Given the description of an element on the screen output the (x, y) to click on. 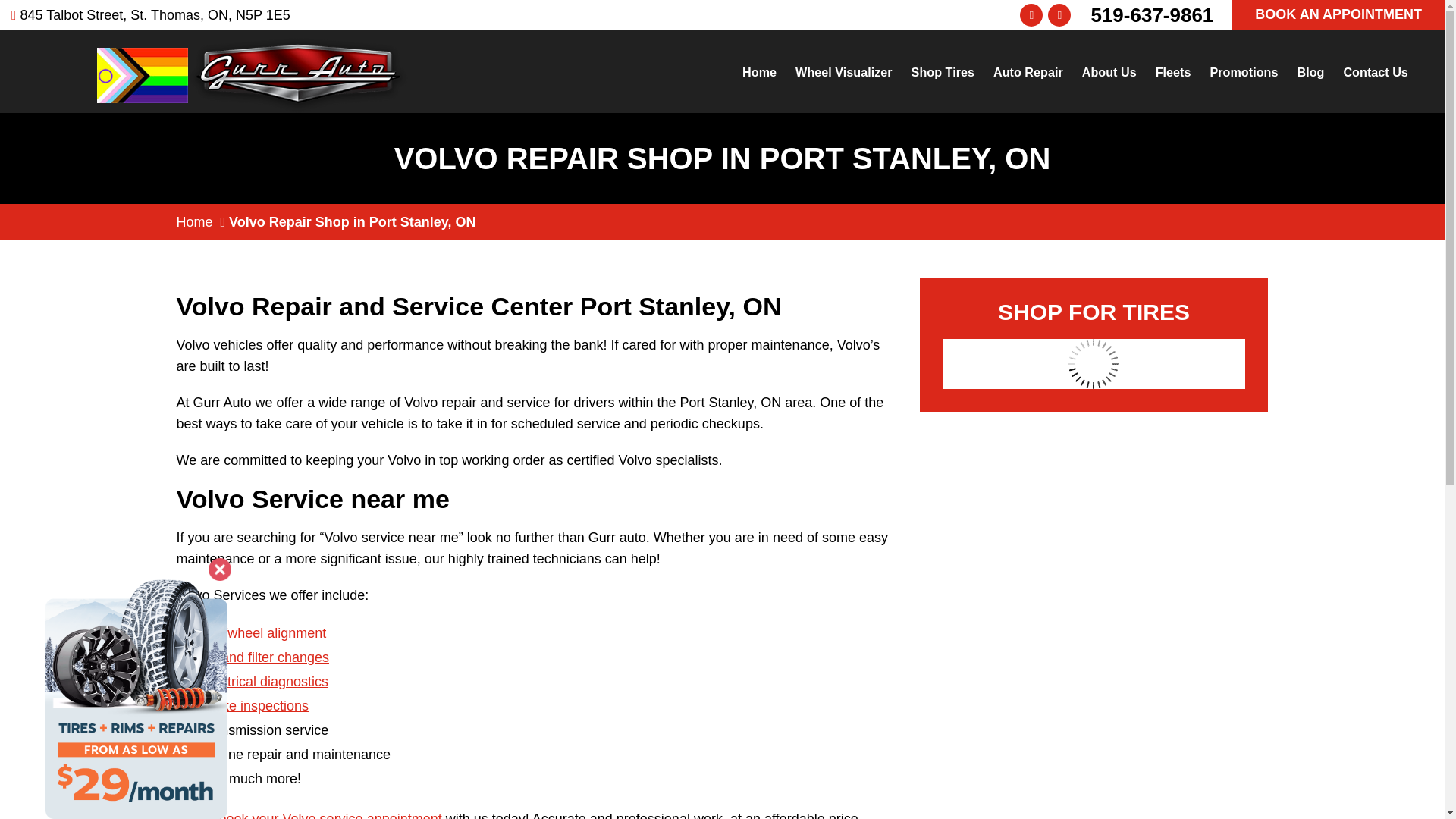
Fleets (1173, 71)
Go to Gurr Automotive. (194, 222)
Auto Repair (1027, 71)
Home (194, 222)
Wheel Visualizer (843, 71)
About Us (1109, 71)
Shop Tires (942, 71)
Home (759, 71)
519-637-9861 (1151, 14)
Promotions (1243, 71)
